Given the description of an element on the screen output the (x, y) to click on. 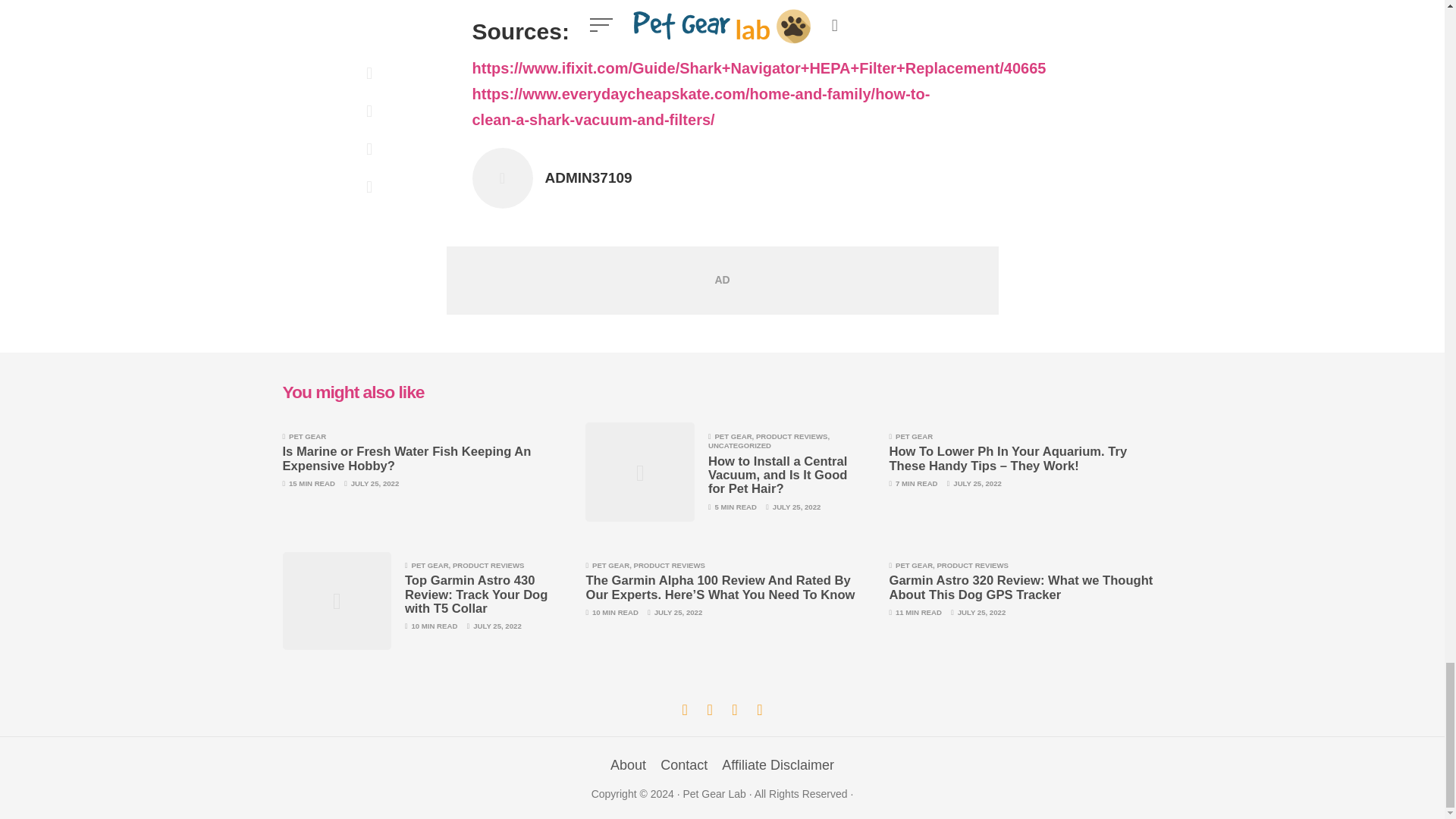
PET GEAR (732, 436)
PET GEAR (307, 436)
Is Marine or Fresh Water Fish Keeping An Expensive Hobby? (406, 458)
PRODUCT REVIEWS (791, 436)
